Given the description of an element on the screen output the (x, y) to click on. 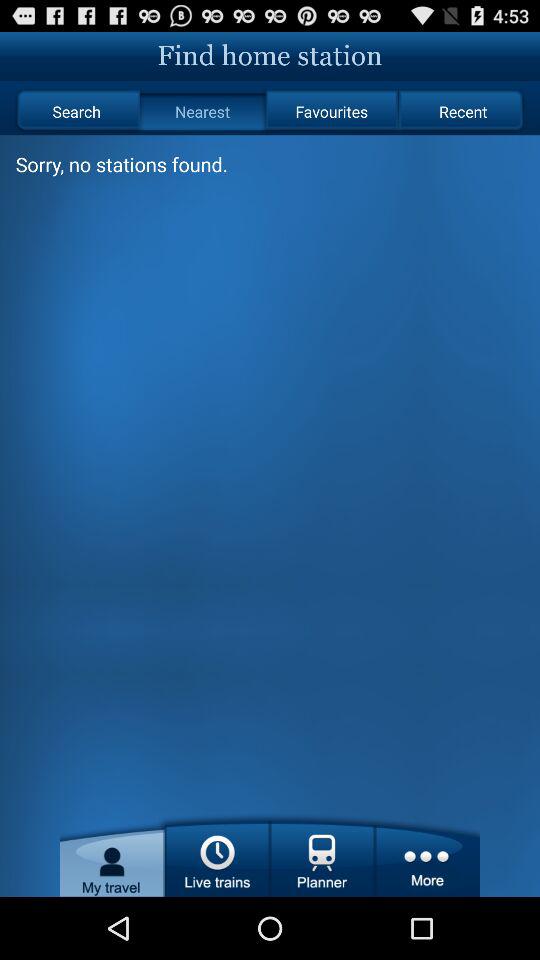
press item to the right of the search radio button (202, 111)
